Given the description of an element on the screen output the (x, y) to click on. 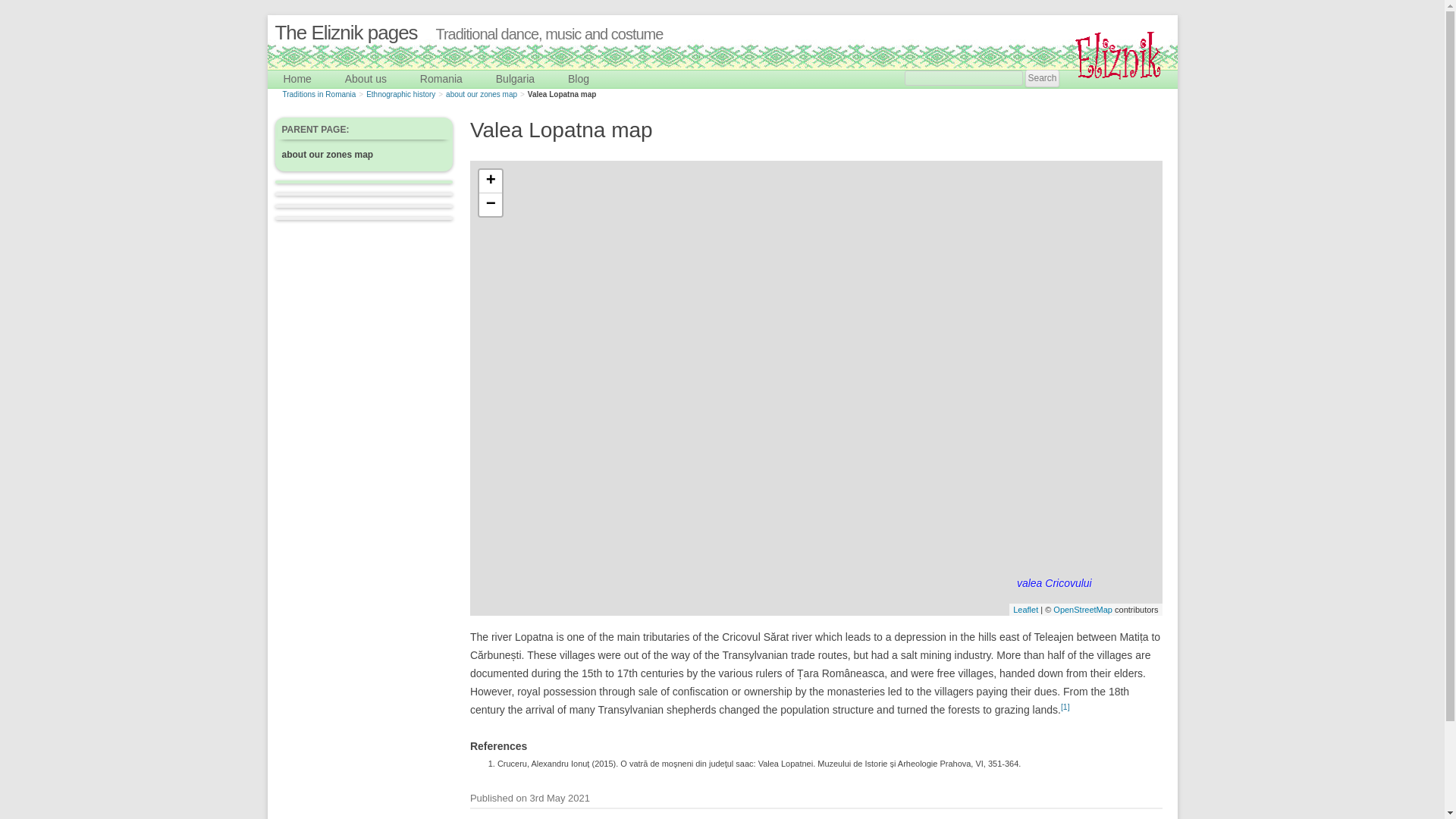
The Eliznik pages (345, 32)
A JS library for interactive maps (1025, 609)
about our zones map (480, 94)
Romania (441, 78)
Valea Lopatna map (561, 94)
Traditions in Romania (318, 94)
About us (366, 78)
Home (296, 78)
Search (1041, 77)
Zoom out (490, 204)
Traditional clothing (496, 97)
The Eliznik pages (345, 32)
Ethnographic history (400, 94)
